Given the description of an element on the screen output the (x, y) to click on. 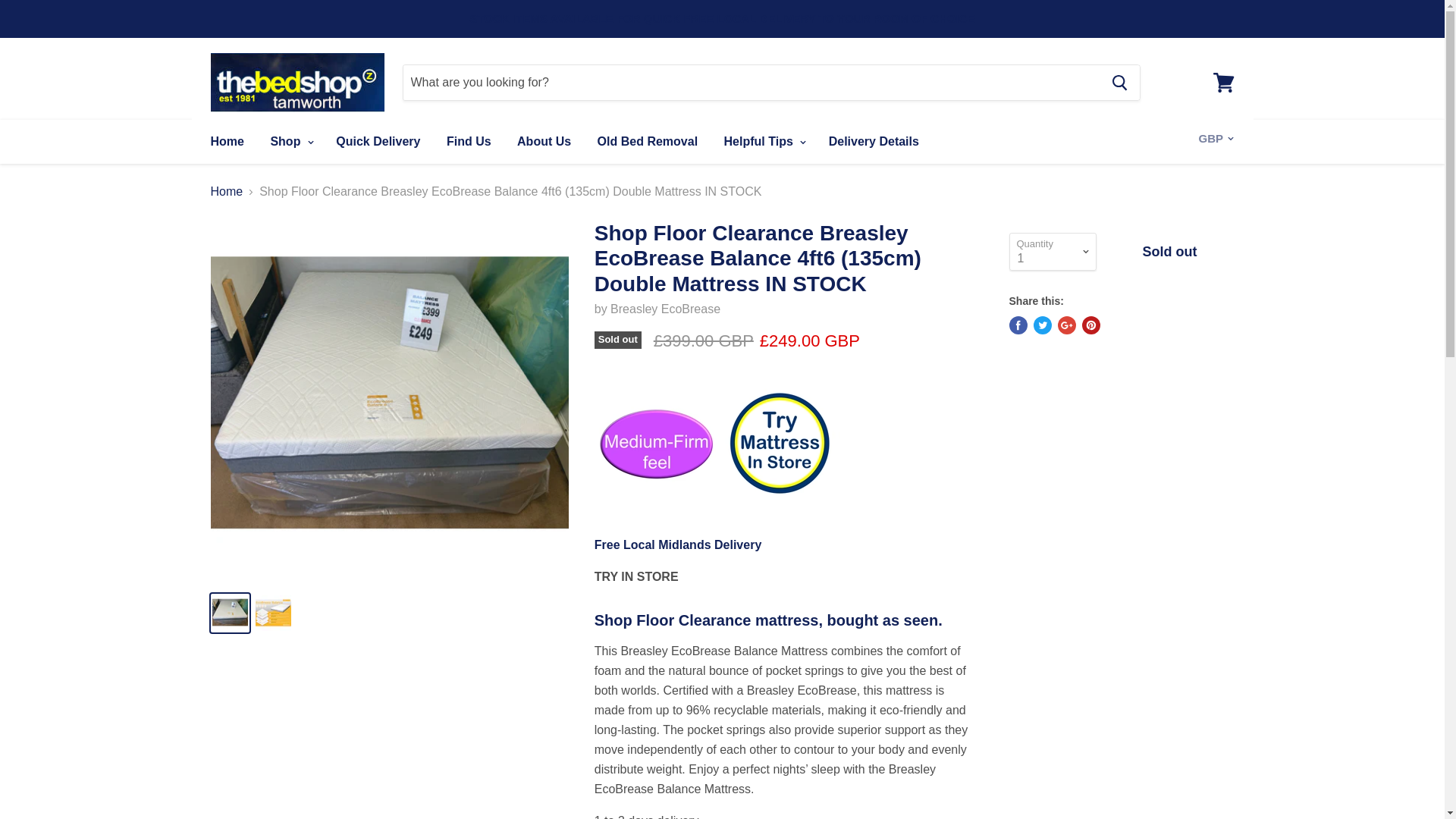
Delivery Details (677, 544)
Shop (289, 142)
View cart (1223, 82)
Home (226, 142)
